Given the description of an element on the screen output the (x, y) to click on. 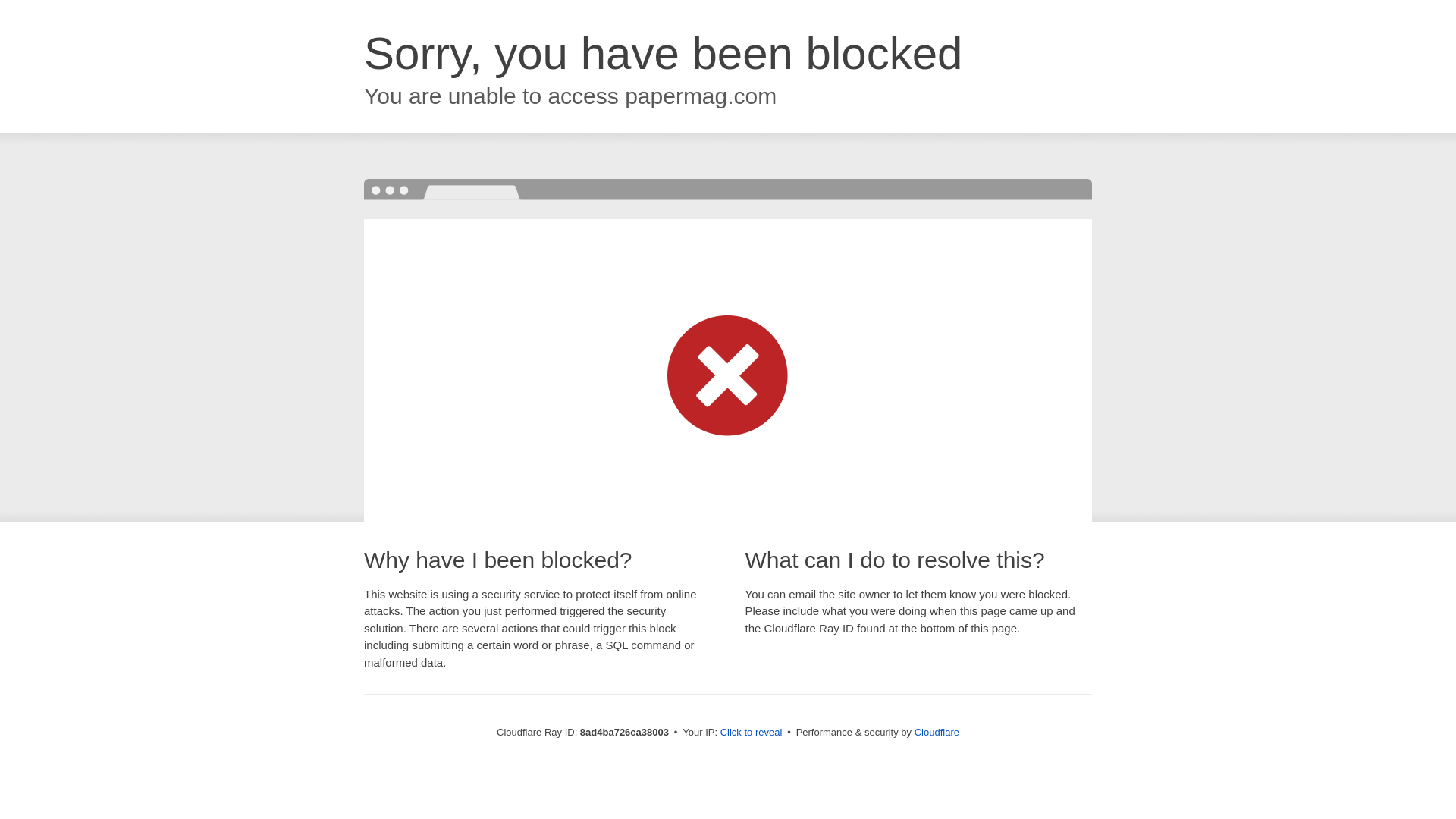
Click to reveal (751, 732)
Cloudflare (936, 731)
